Given the description of an element on the screen output the (x, y) to click on. 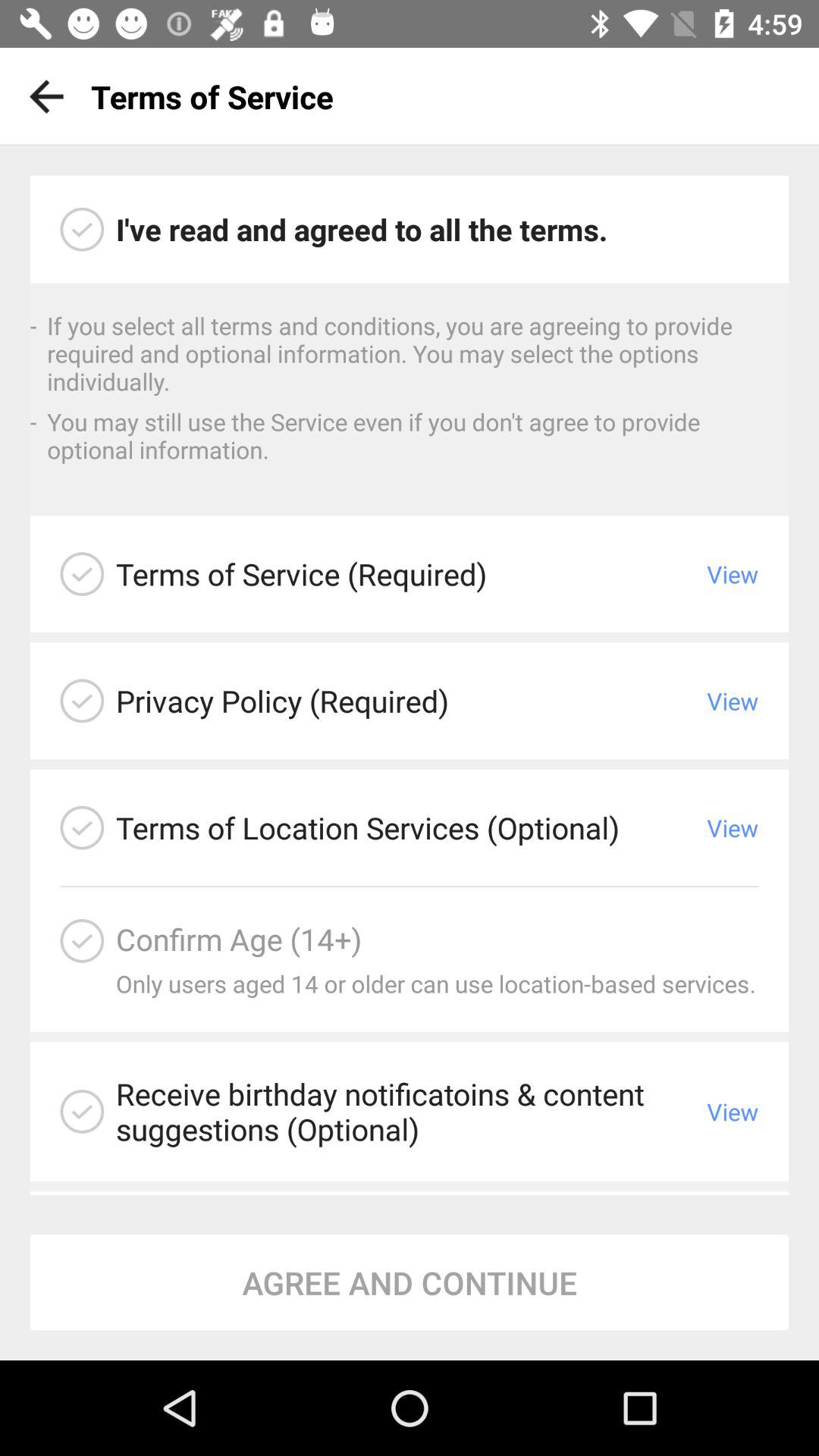
read terms and conditions (82, 574)
